Given the description of an element on the screen output the (x, y) to click on. 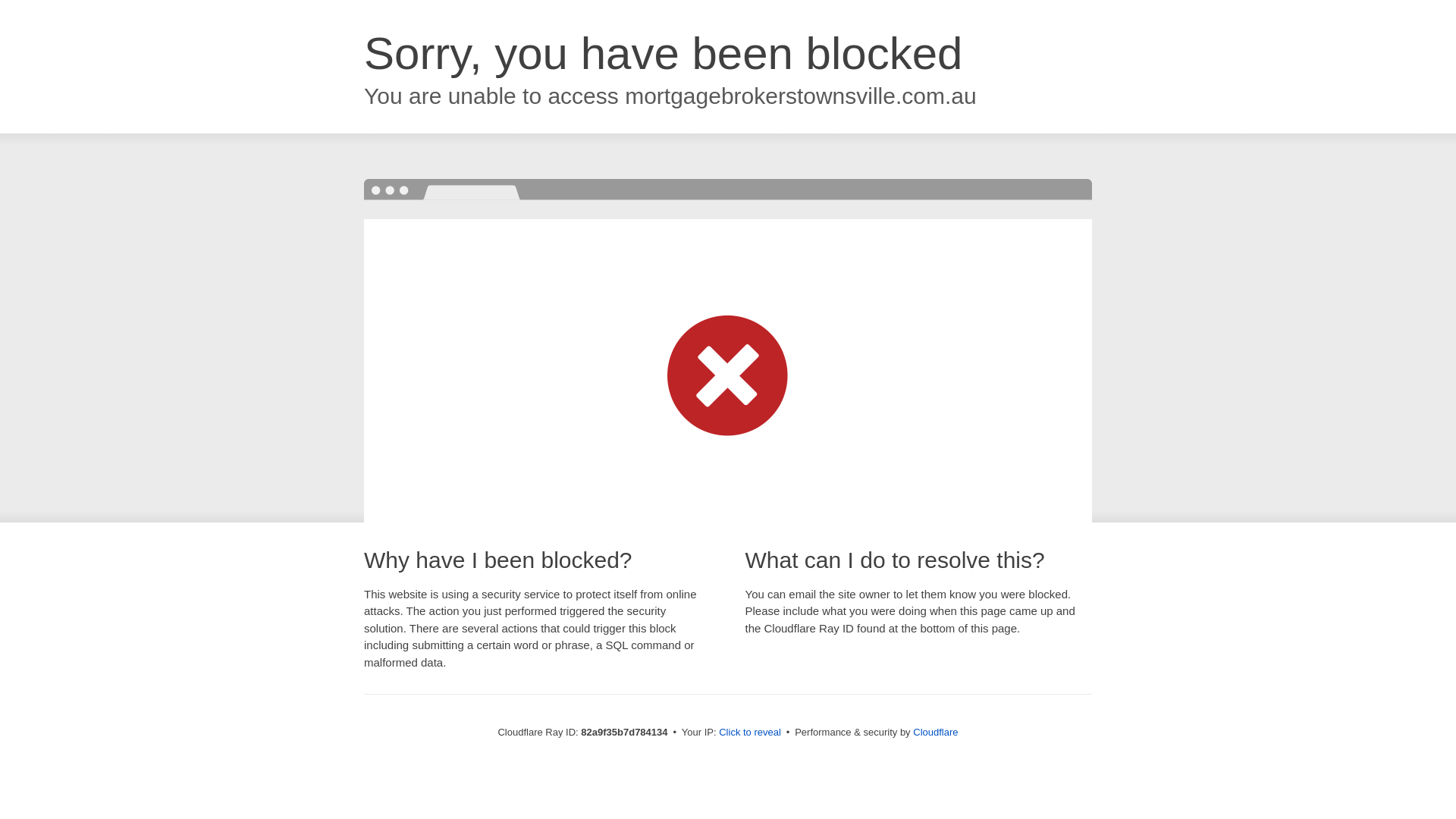
Click to reveal Element type: text (749, 732)
Cloudflare Element type: text (935, 731)
